Given the description of an element on the screen output the (x, y) to click on. 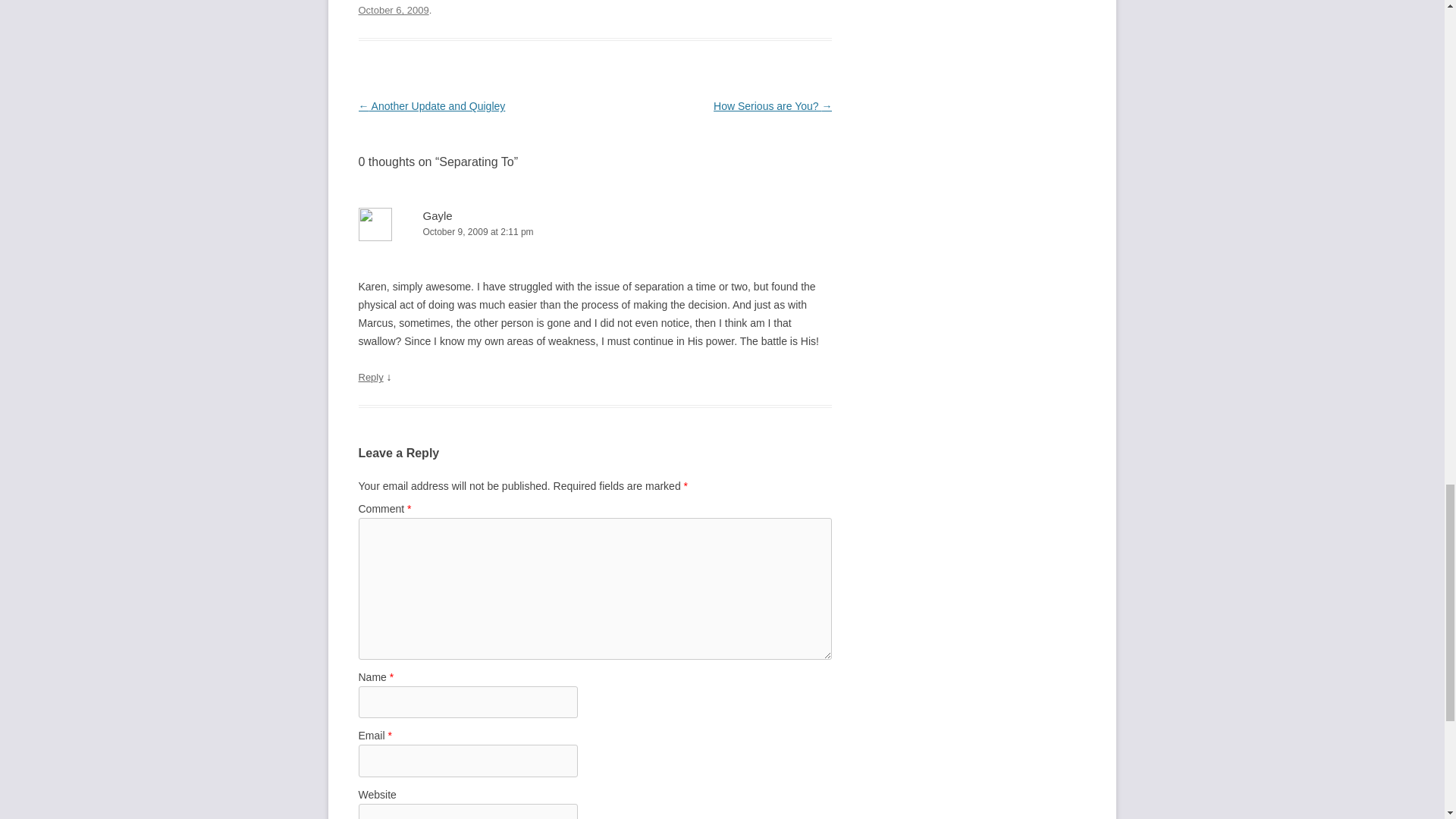
9:41 pm (393, 9)
October 6, 2009 (393, 9)
